Given the description of an element on the screen output the (x, y) to click on. 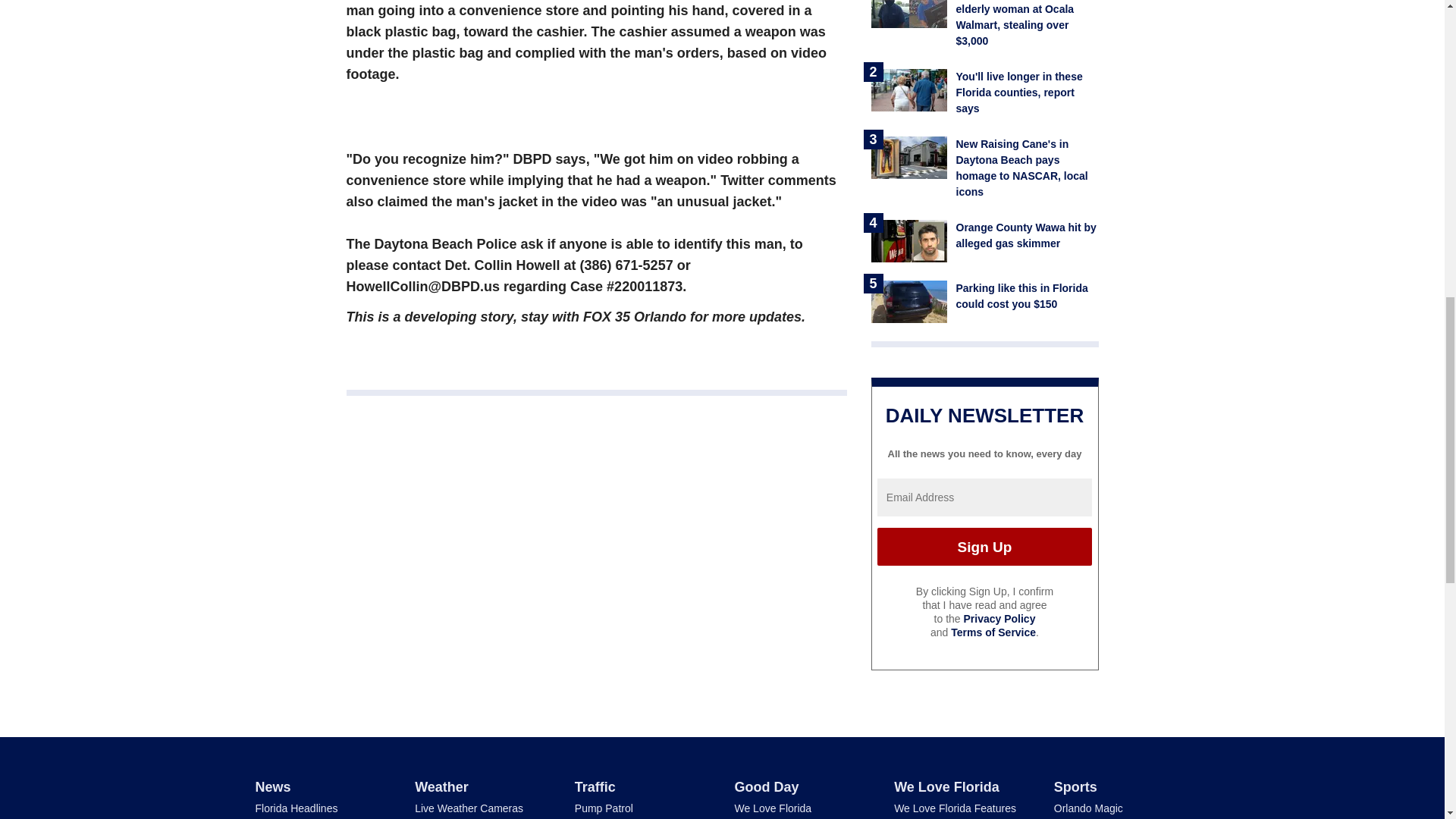
Sign Up (984, 546)
